Given the description of an element on the screen output the (x, y) to click on. 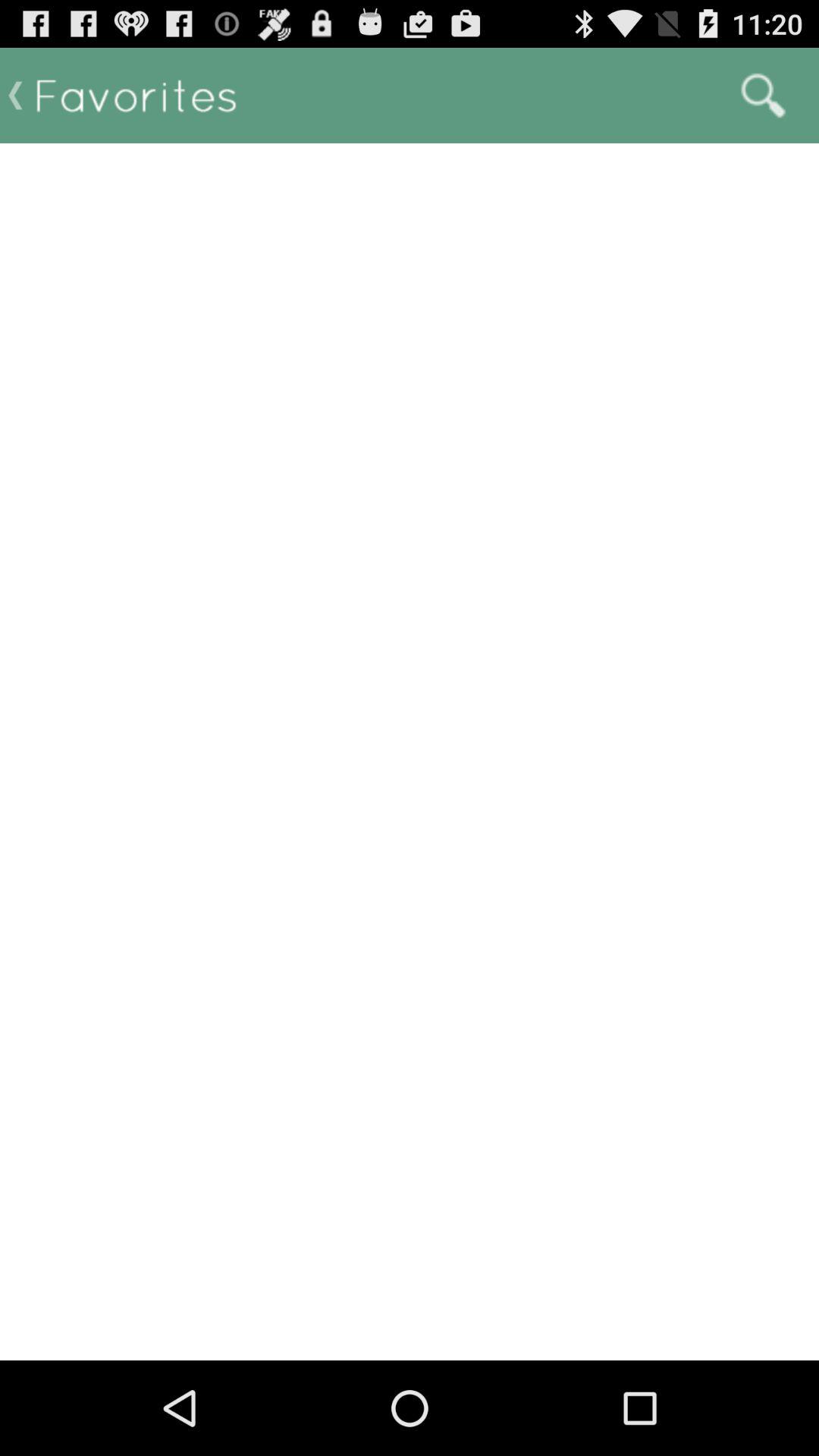
choose item at the top right corner (763, 95)
